Given the description of an element on the screen output the (x, y) to click on. 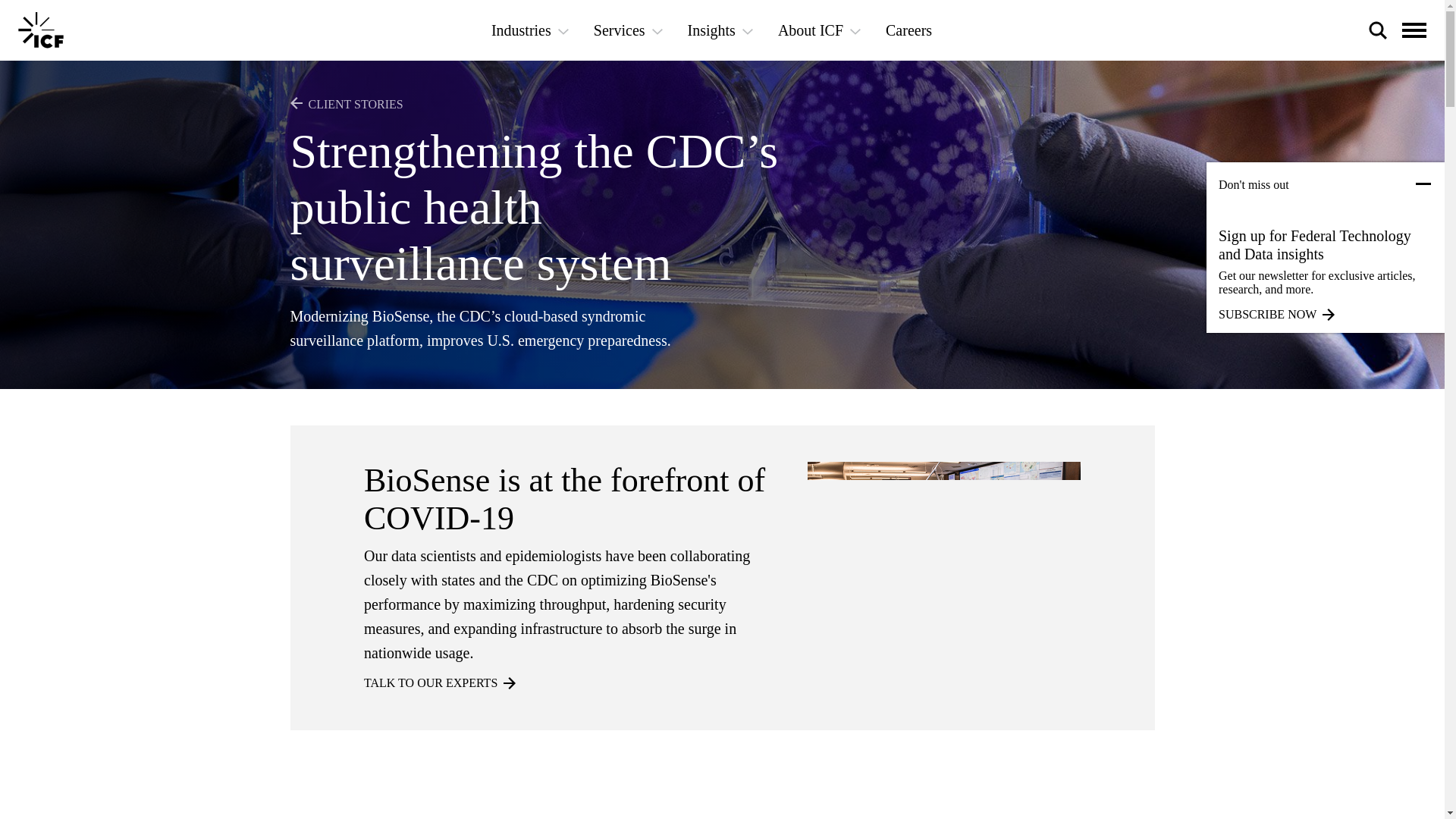
Subscribe now (1325, 314)
Services (627, 30)
Industries (529, 30)
Insights (720, 30)
